Given the description of an element on the screen output the (x, y) to click on. 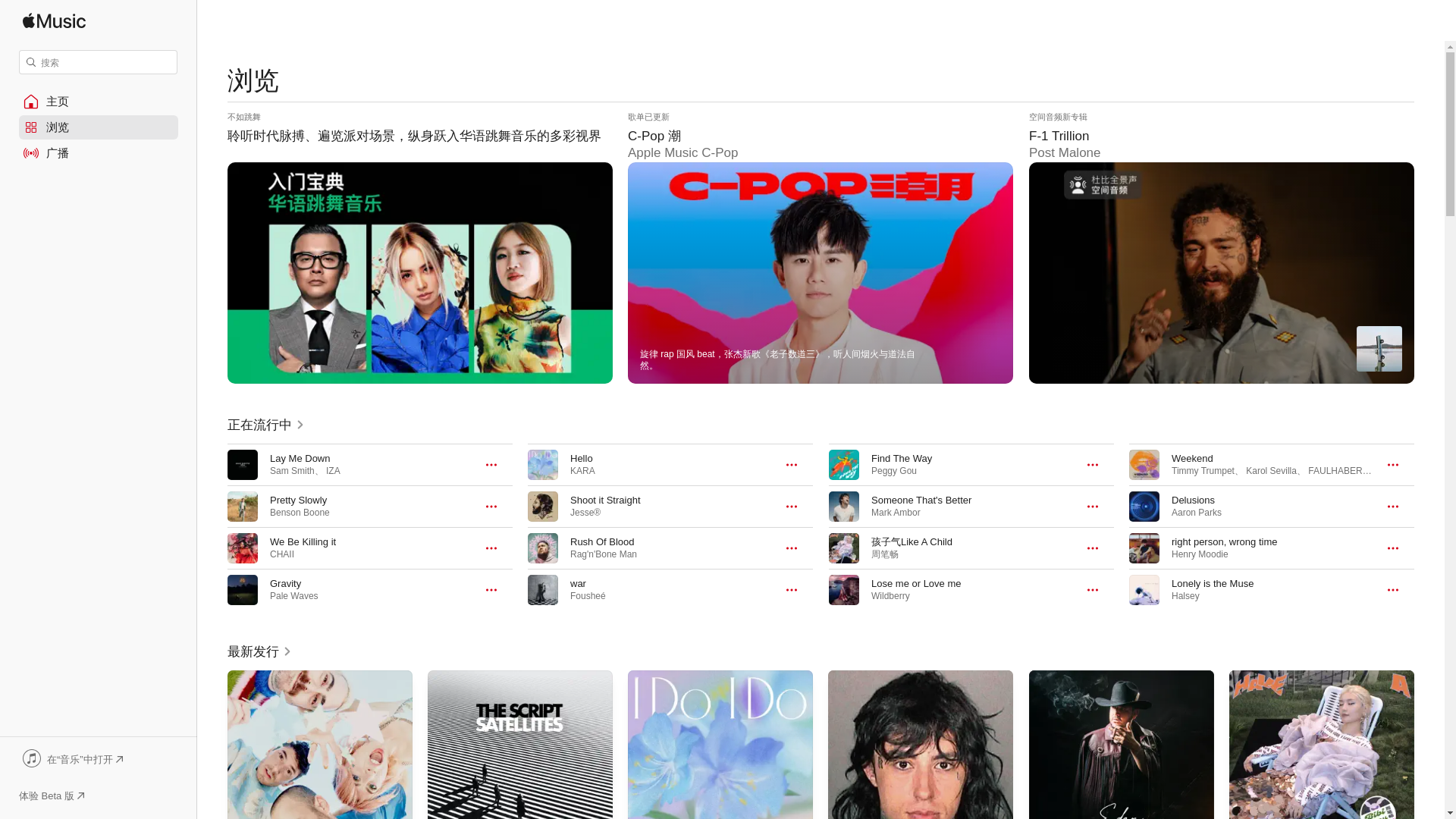
F-1 Trillion (1221, 247)
Hello (581, 458)
IZA (333, 470)
Pretty Slowly (297, 500)
Lay Me Down (299, 458)
Benson Boone (299, 511)
We Be Killing it (302, 541)
Sam Smith (291, 470)
Gravity (285, 583)
CHAII (281, 553)
